Given the description of an element on the screen output the (x, y) to click on. 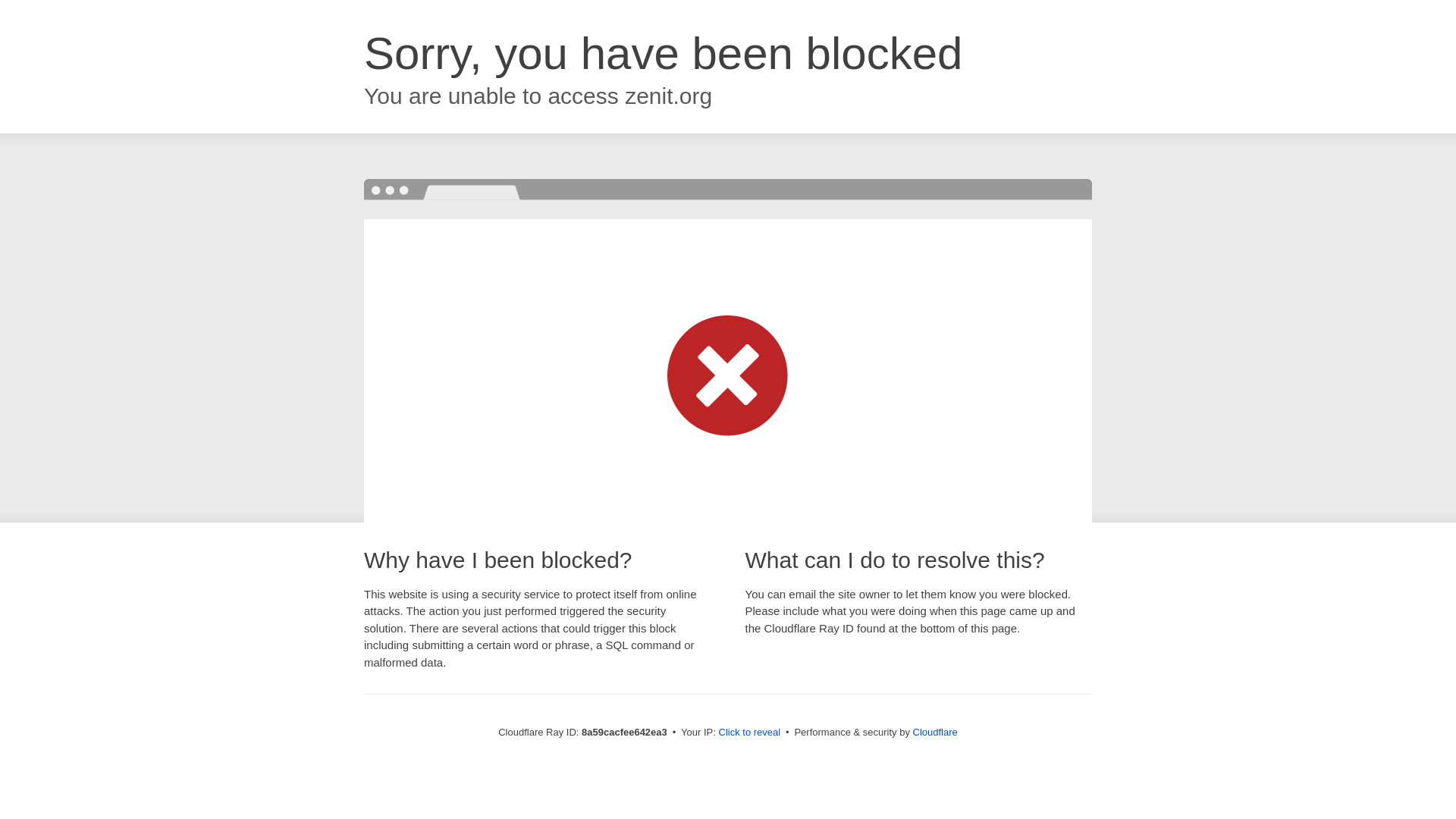
Click to reveal (749, 732)
Cloudflare (935, 731)
